Given the description of an element on the screen output the (x, y) to click on. 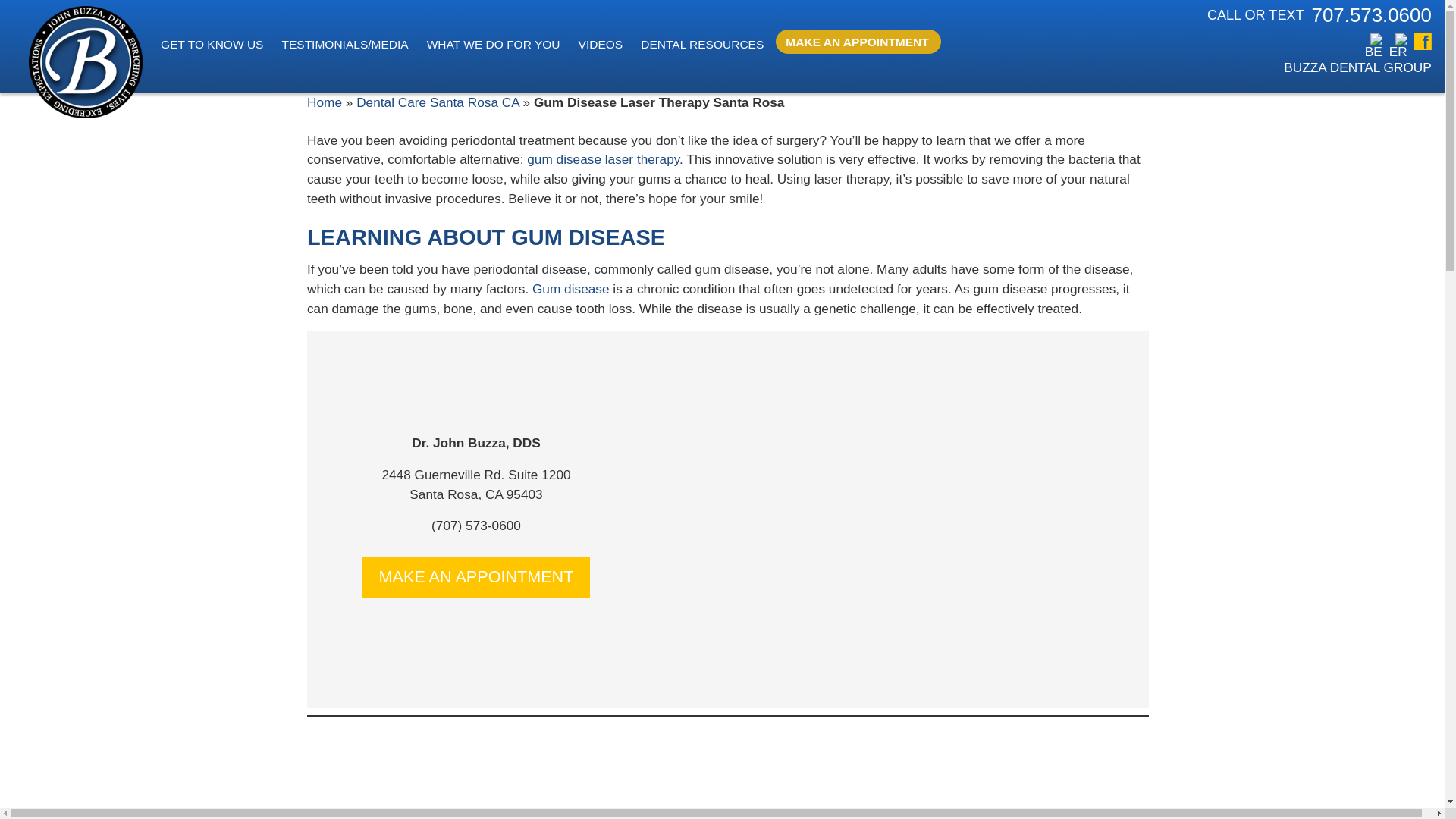
MAKE AN APPOINTMENT (859, 39)
VIDEOS (603, 41)
Dr. Buzza (85, 64)
DENTAL RESOURCES (705, 41)
